Given the description of an element on the screen output the (x, y) to click on. 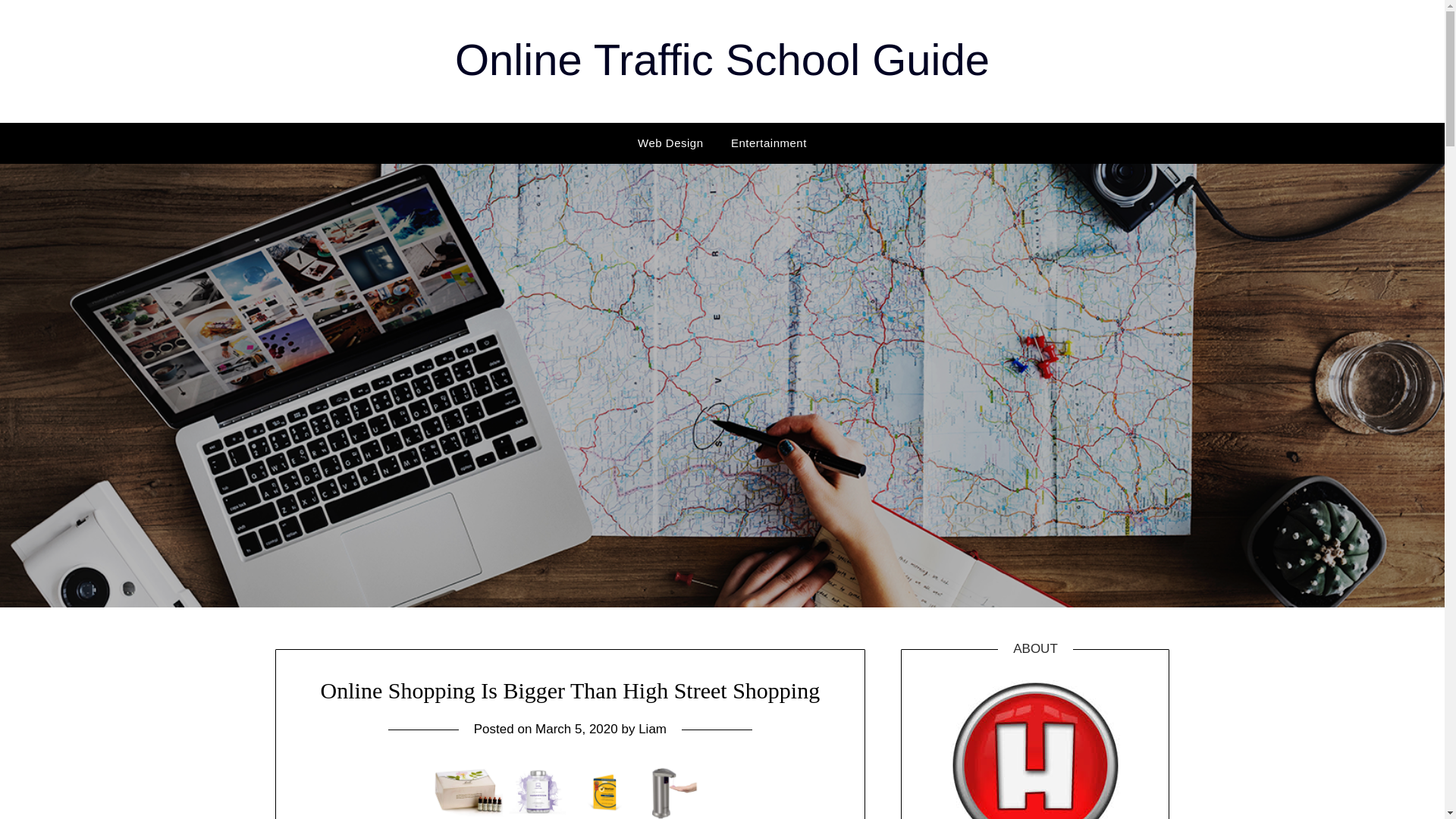
March 5, 2020 (576, 728)
Web Design (670, 142)
Online Traffic School Guide (722, 59)
Entertainment (768, 142)
Liam (652, 728)
Search (38, 22)
